Given the description of an element on the screen output the (x, y) to click on. 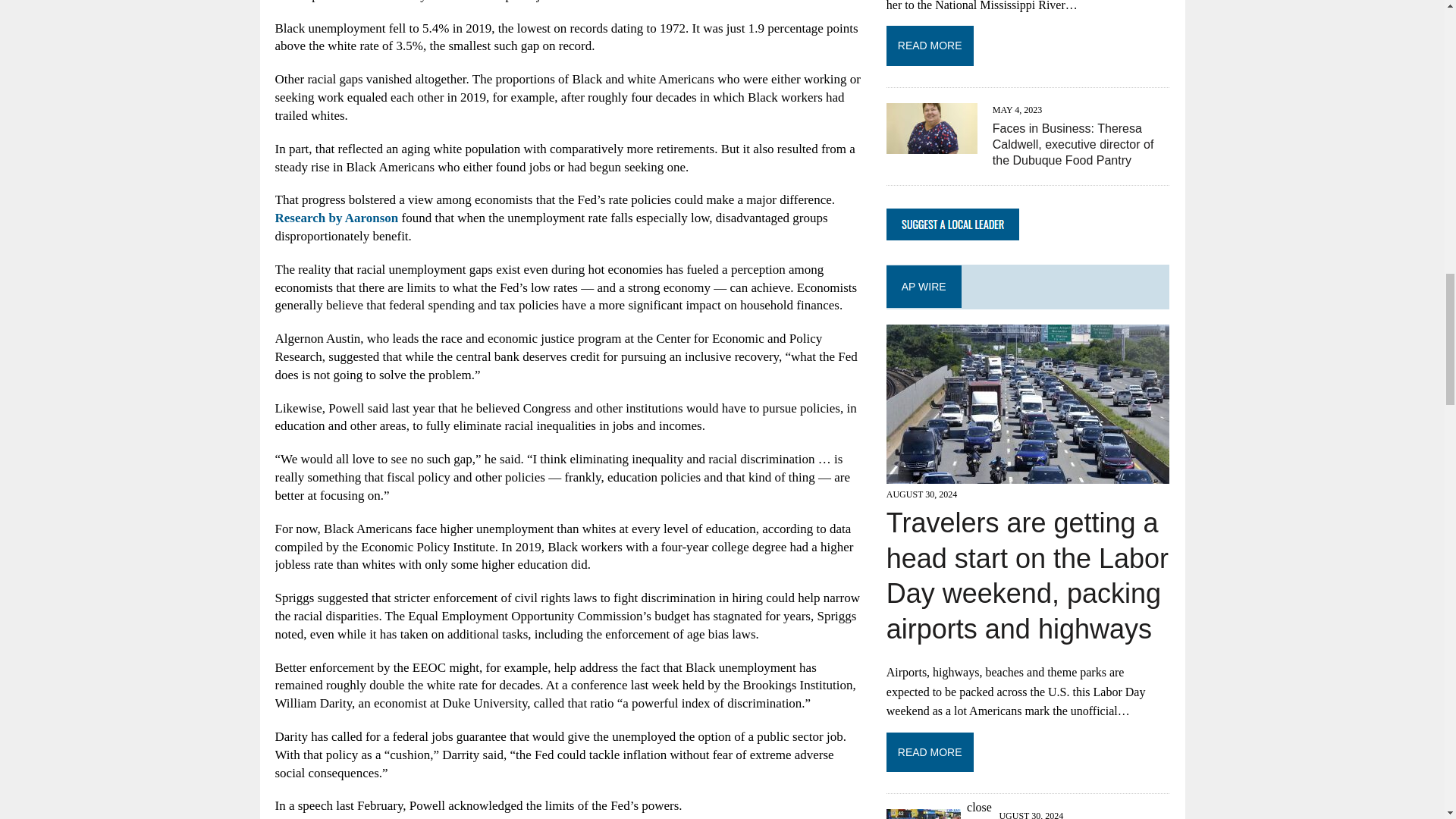
Research by Aaronson (336, 217)
